Given the description of an element on the screen output the (x, y) to click on. 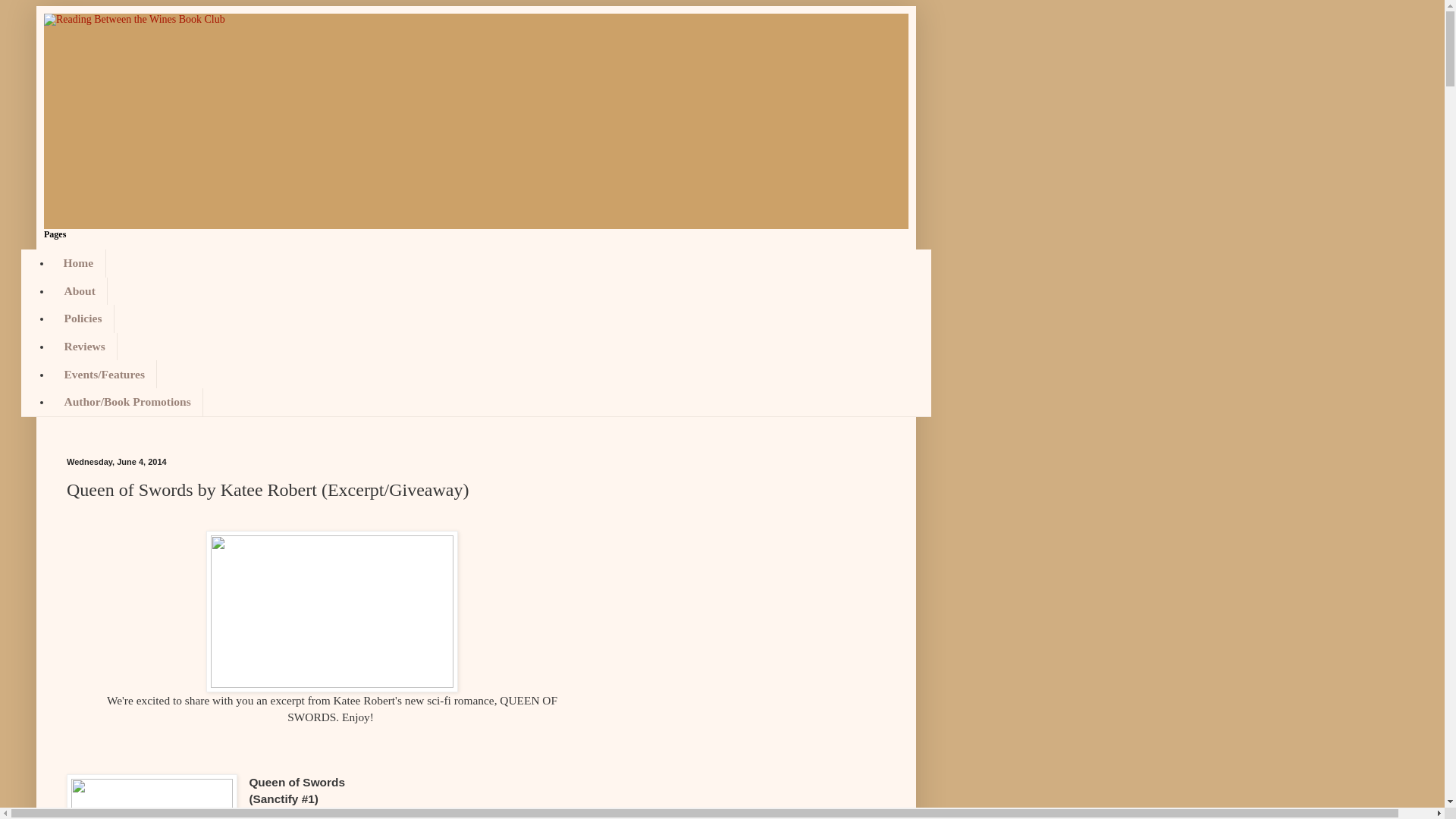
Policies (82, 318)
Reviews (83, 346)
About (78, 291)
Home (78, 263)
